Given the description of an element on the screen output the (x, y) to click on. 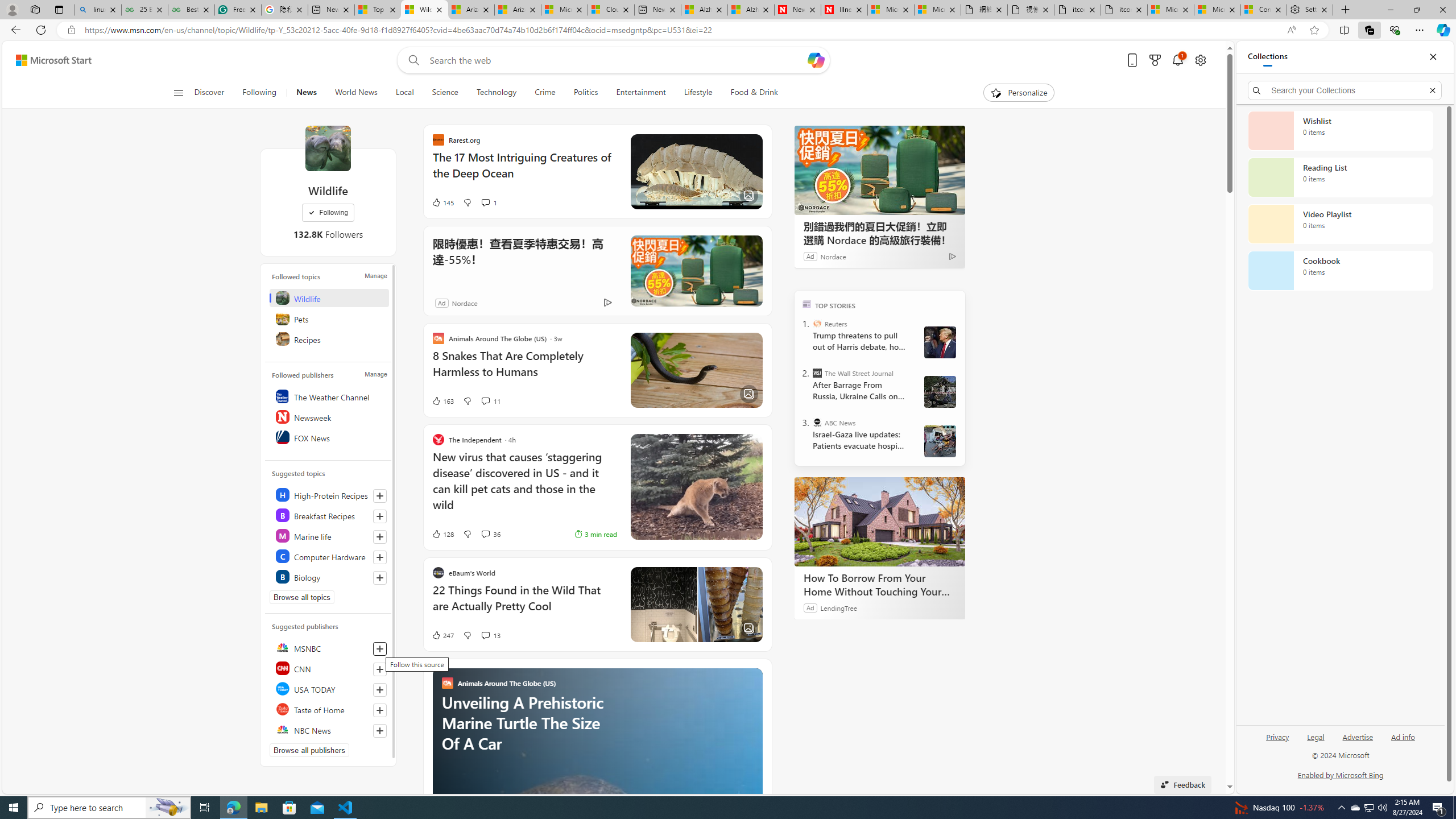
Follow this topic (379, 577)
25 Basic Linux Commands For Beginners - GeeksforGeeks (144, 9)
Reading List collection, 0 items (1339, 177)
